Given the description of an element on the screen output the (x, y) to click on. 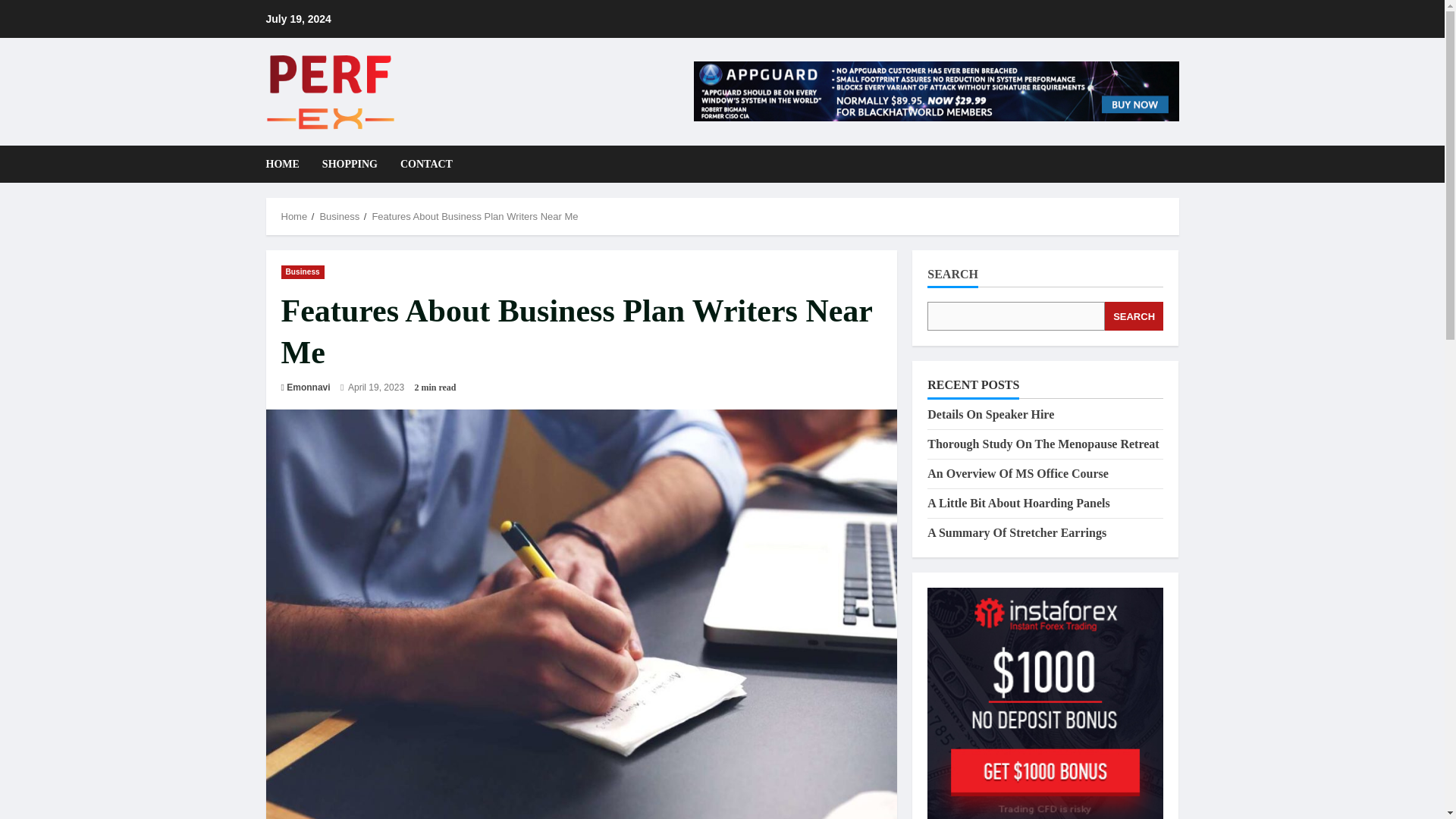
A Little Bit About Hoarding Panels (1018, 502)
Features About Business Plan Writers Near Me (474, 215)
Business (302, 272)
An Overview Of MS Office Course (1017, 472)
A Summary Of Stretcher Earrings (1016, 532)
CONTACT (420, 163)
Emonnavi (308, 386)
Details On Speaker Hire (990, 413)
Thorough Study On The Menopause Retreat (1042, 443)
Home (294, 215)
SEARCH (1134, 316)
HOME (287, 163)
SHOPPING (349, 163)
Business (338, 215)
